Given the description of an element on the screen output the (x, y) to click on. 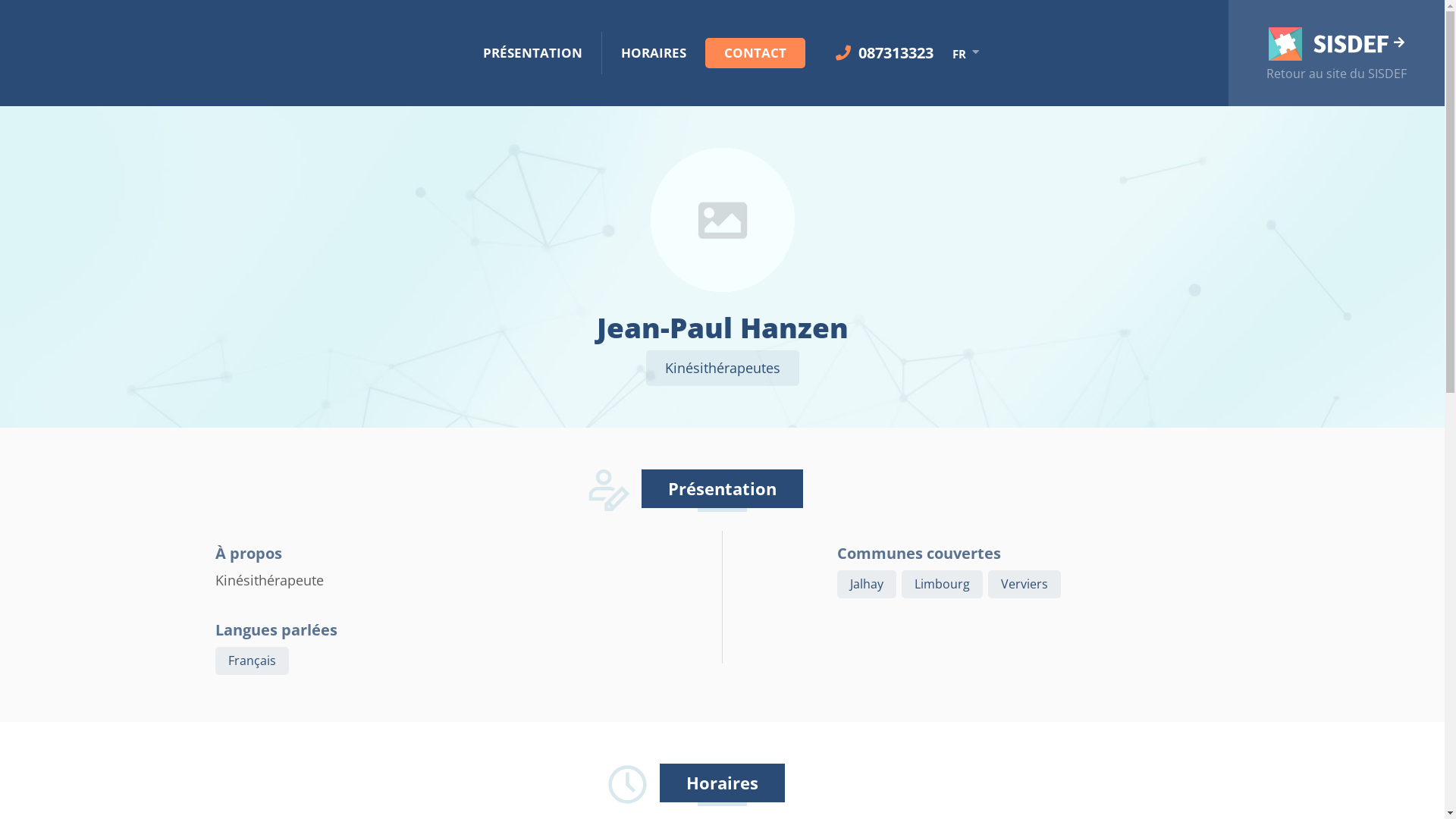
Retour au site du SISDEF Element type: text (1336, 53)
CONTACT Element type: text (755, 52)
HORAIRES Element type: text (653, 52)
087313323 Element type: text (883, 52)
